Given the description of an element on the screen output the (x, y) to click on. 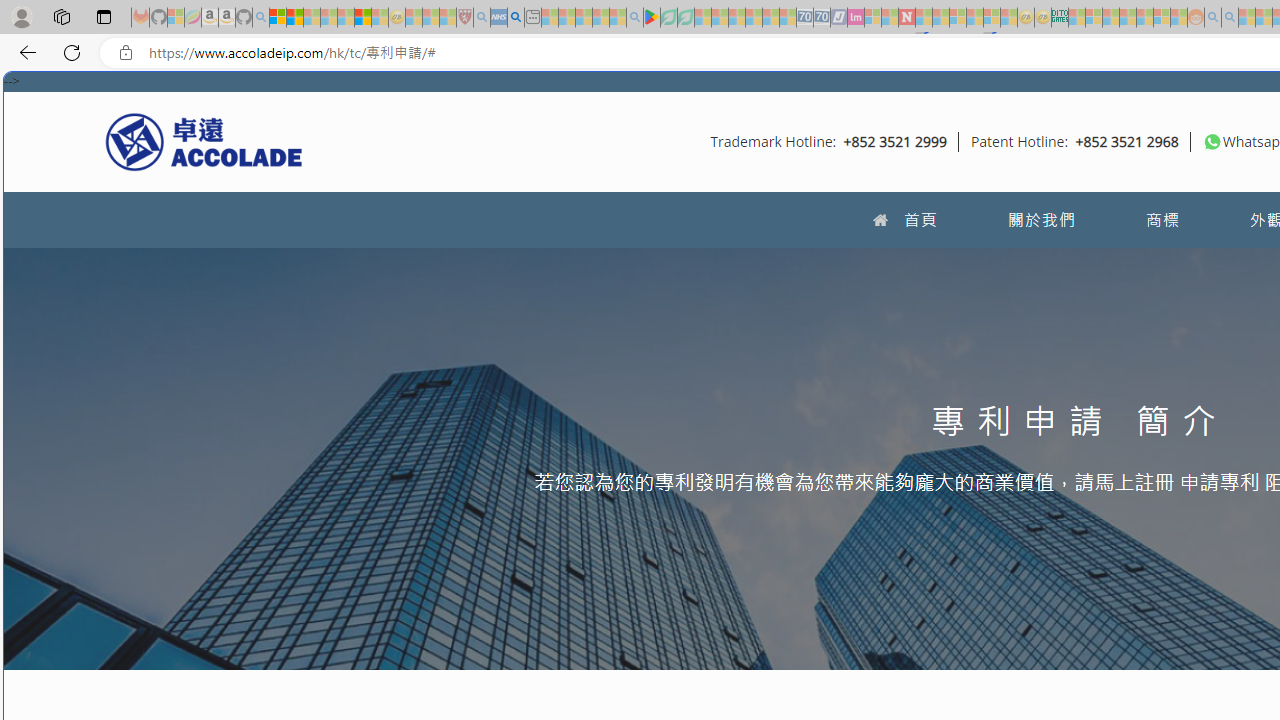
Local - MSN - Sleeping (447, 17)
The Weather Channel - MSN - Sleeping (311, 17)
Latest Politics News & Archive | Newsweek.com - Sleeping (906, 17)
Robert H. Shmerling, MD - Harvard Health - Sleeping (465, 17)
Pets - MSN - Sleeping (600, 17)
DITOGAMES AG Imprint (1059, 17)
